Given the description of an element on the screen output the (x, y) to click on. 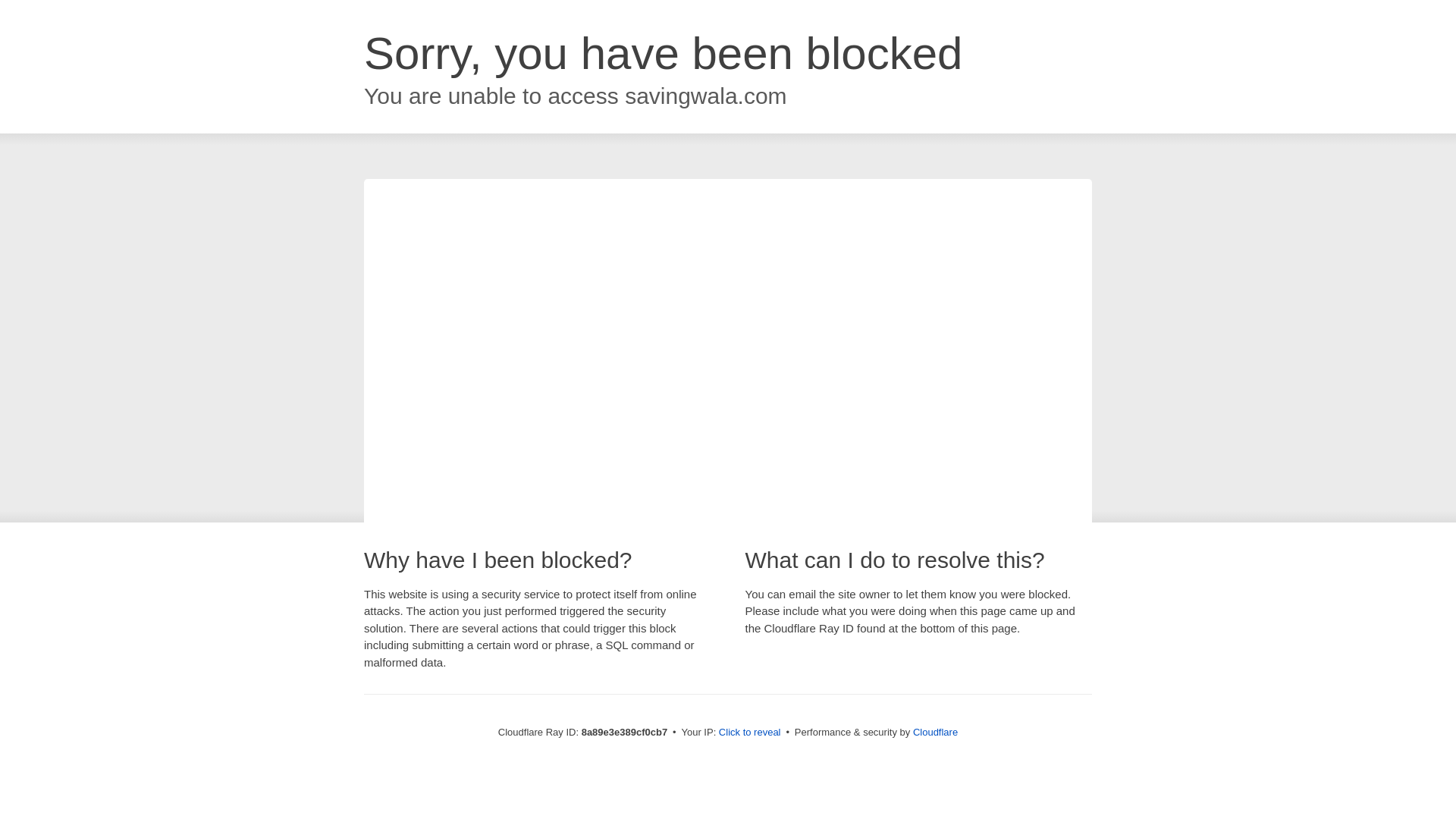
Cloudflare (935, 731)
Click to reveal (749, 732)
